Given the description of an element on the screen output the (x, y) to click on. 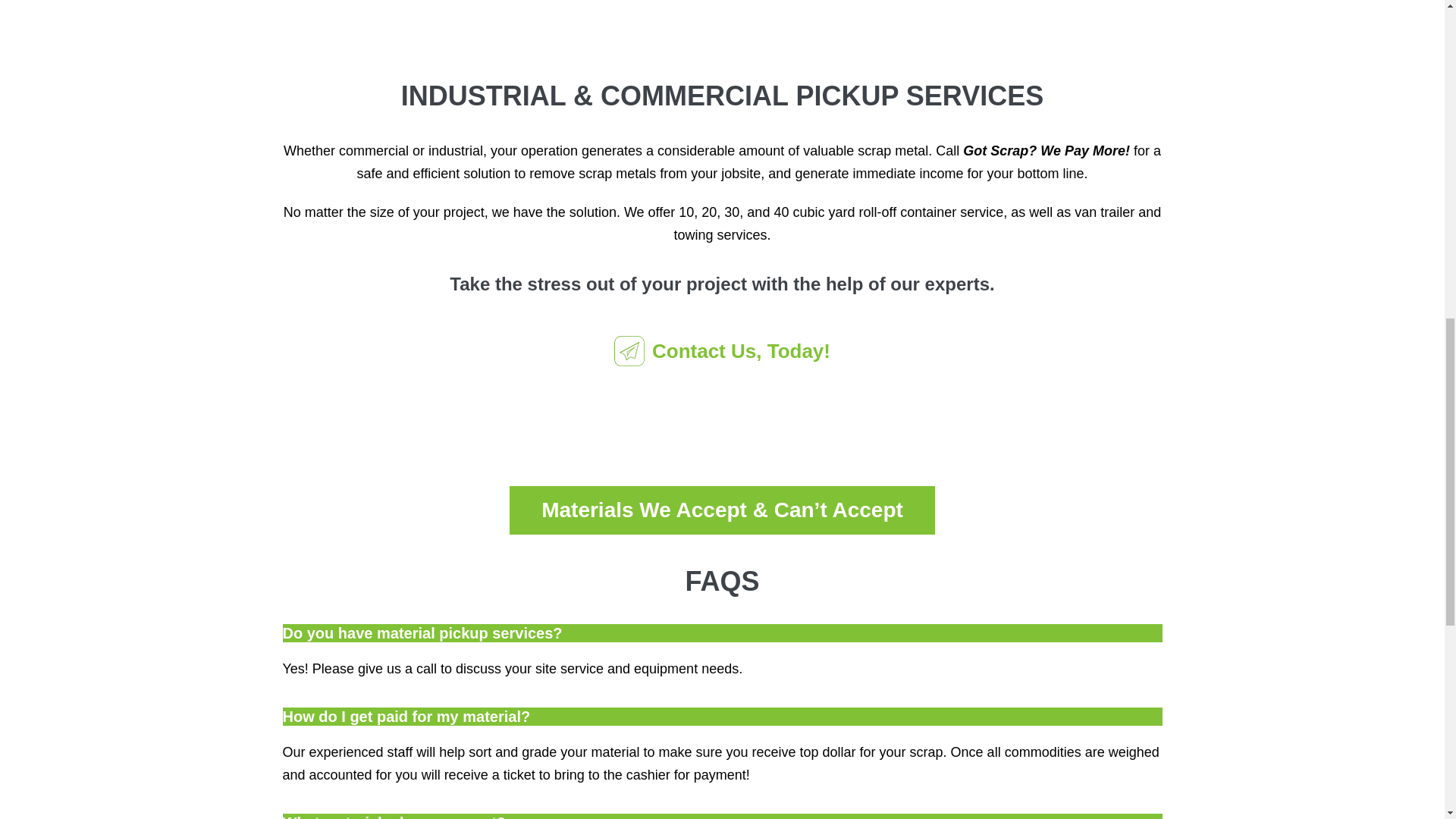
Contact Us, Today! (721, 351)
What materials do you accept? (393, 816)
How do I get paid for my material? (405, 716)
Do you have material pickup services? (422, 632)
